Given the description of an element on the screen output the (x, y) to click on. 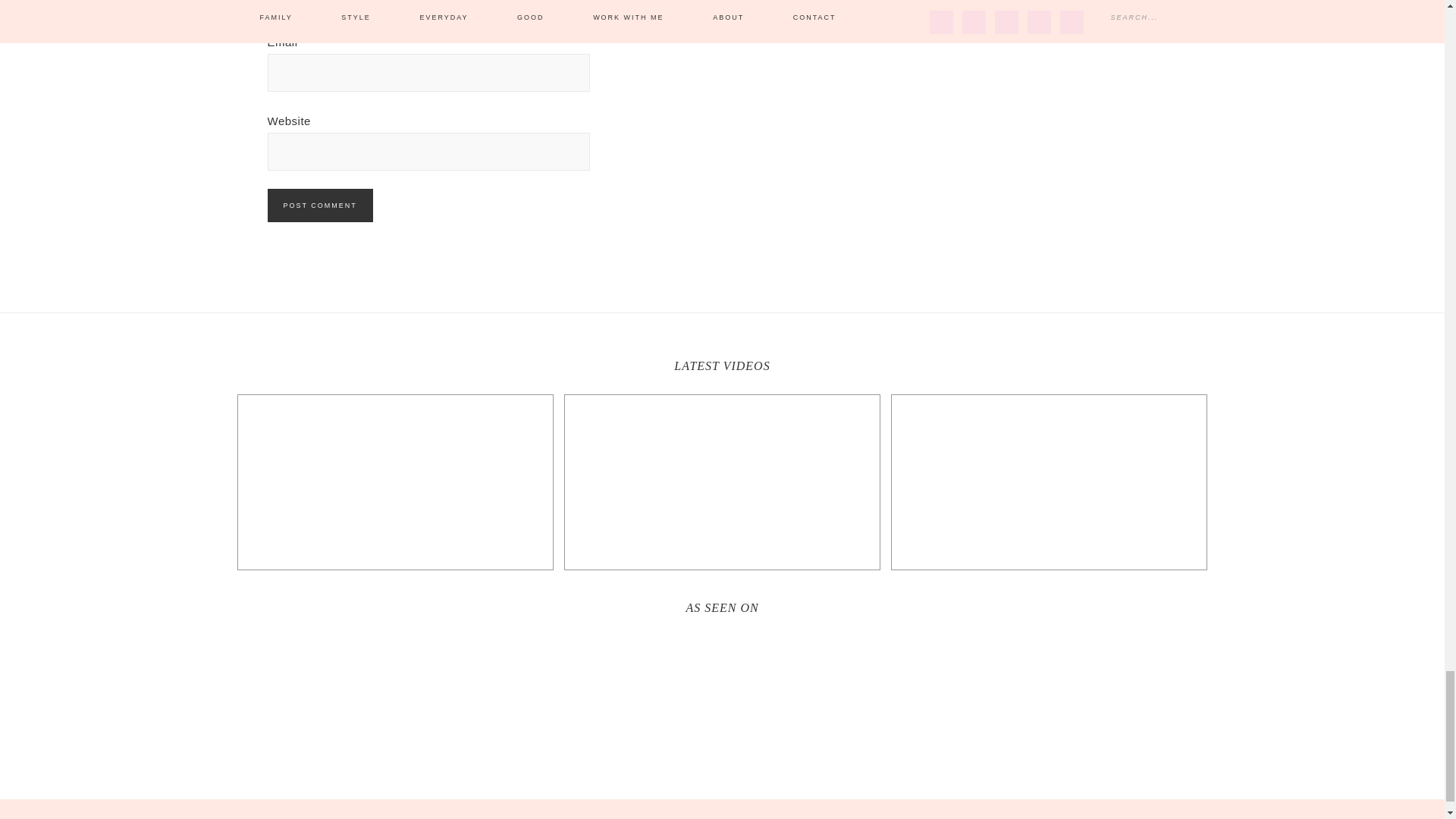
Post Comment (319, 205)
The Beauty of Thanks: Caregiving for Family (722, 481)
Add the Joy of Sparkle to the Holidays with Sam's Club (394, 481)
